Given the description of an element on the screen output the (x, y) to click on. 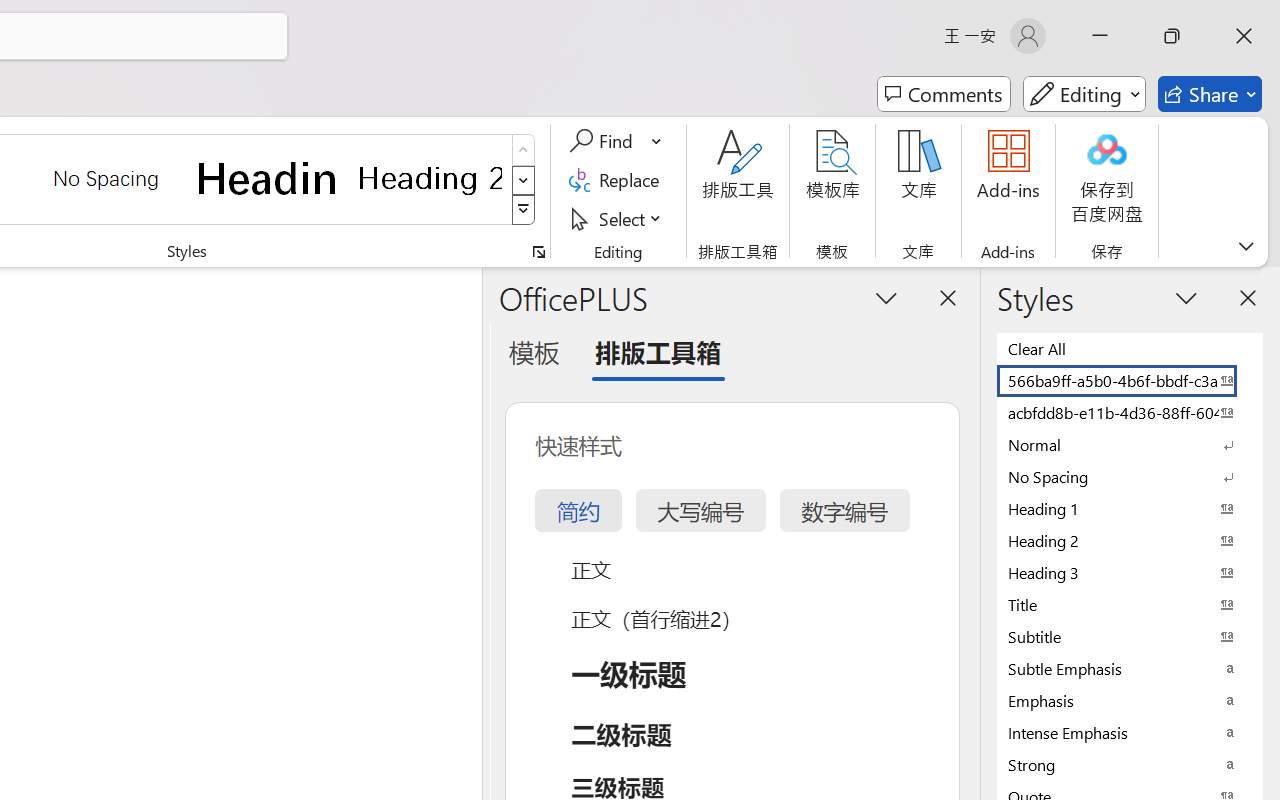
Task Pane Options (886, 297)
Heading 3 (1130, 572)
Mode (1083, 94)
Ribbon Display Options (1246, 245)
Heading 2 (429, 178)
Comments (943, 94)
Share (1210, 94)
Subtle Emphasis (1130, 668)
